Given the description of an element on the screen output the (x, y) to click on. 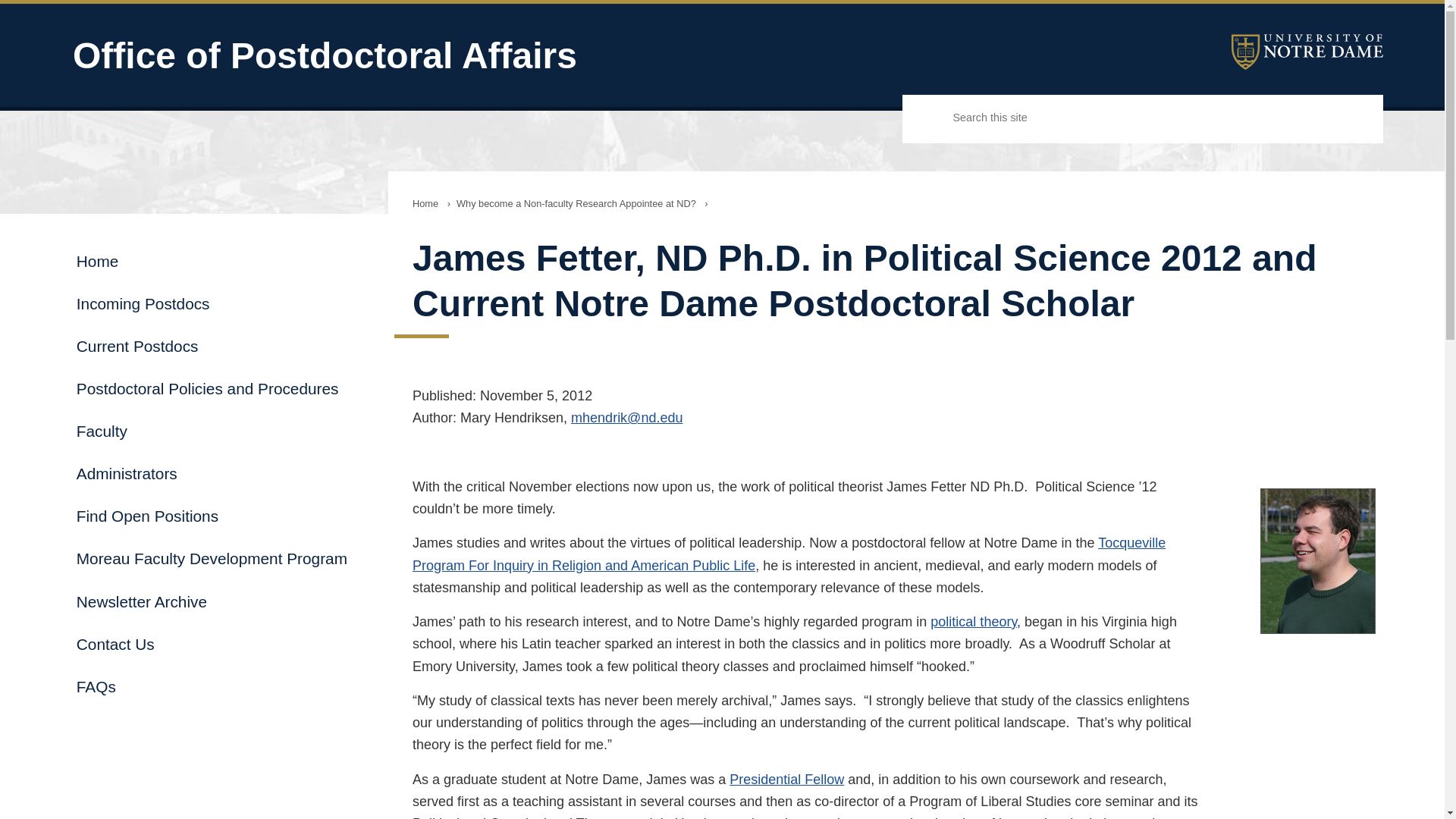
Presidential Fellow (786, 779)
Home (425, 203)
Incoming Postdocs (212, 302)
Moreau Faculty Development Program (212, 558)
University of Notre Dame (1307, 51)
Find Open Positions (212, 516)
type your search term (1164, 117)
Office of Postdoctoral Affairs (466, 55)
political theory (973, 621)
